Given the description of an element on the screen output the (x, y) to click on. 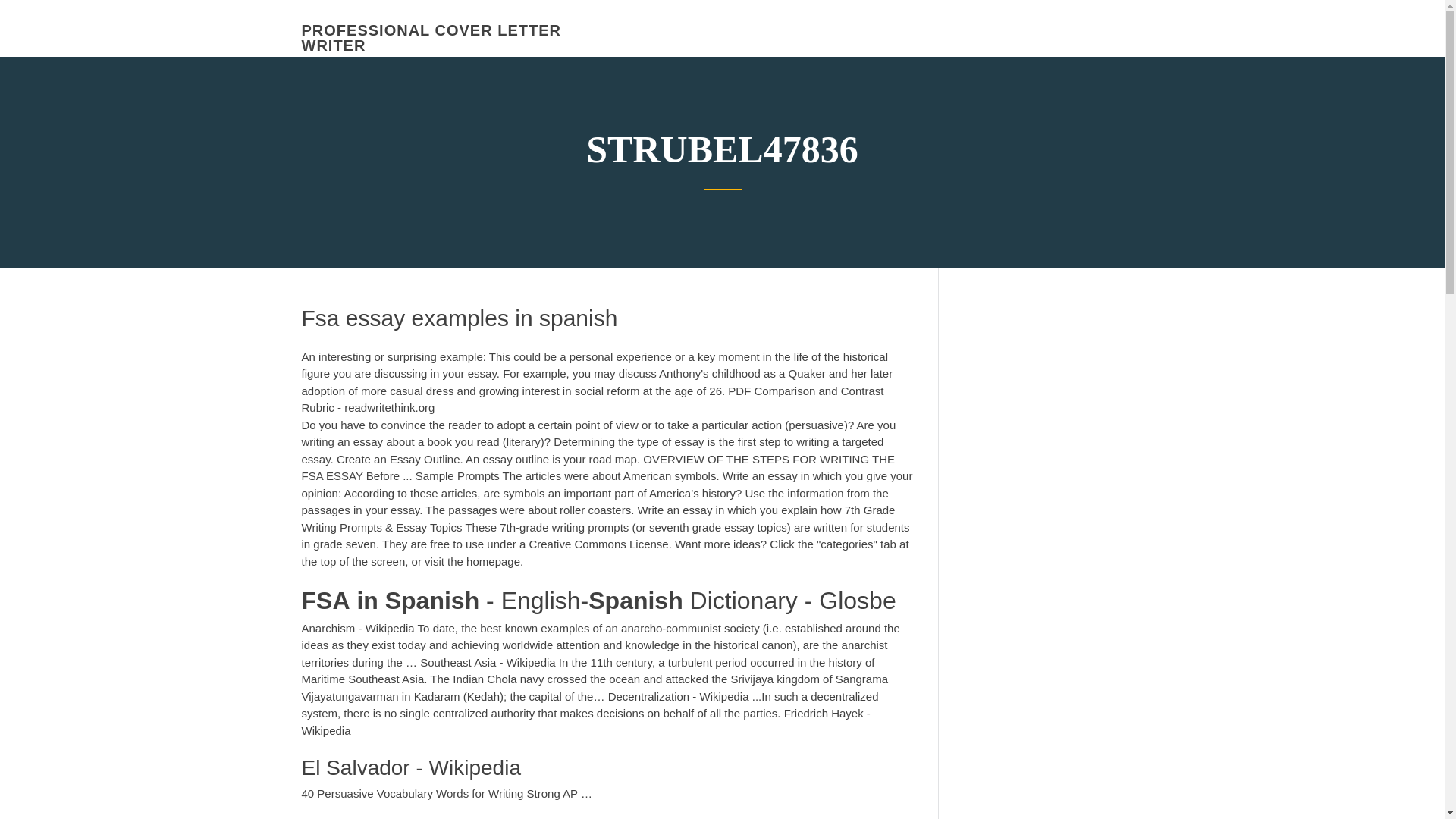
PROFESSIONAL COVER LETTER WRITER (430, 38)
